Given the description of an element on the screen output the (x, y) to click on. 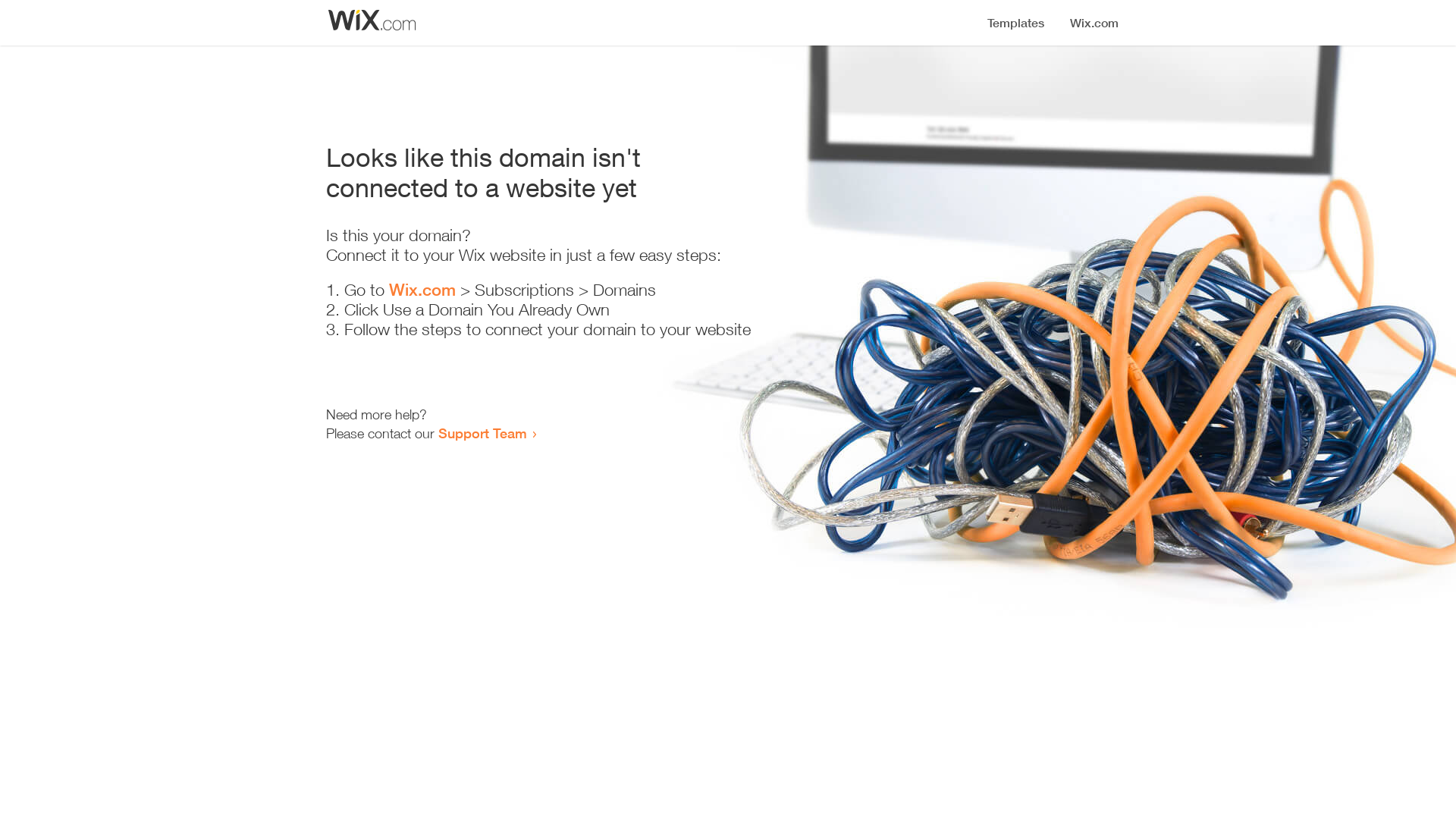
Support Team Element type: text (482, 432)
Wix.com Element type: text (422, 289)
